Given the description of an element on the screen output the (x, y) to click on. 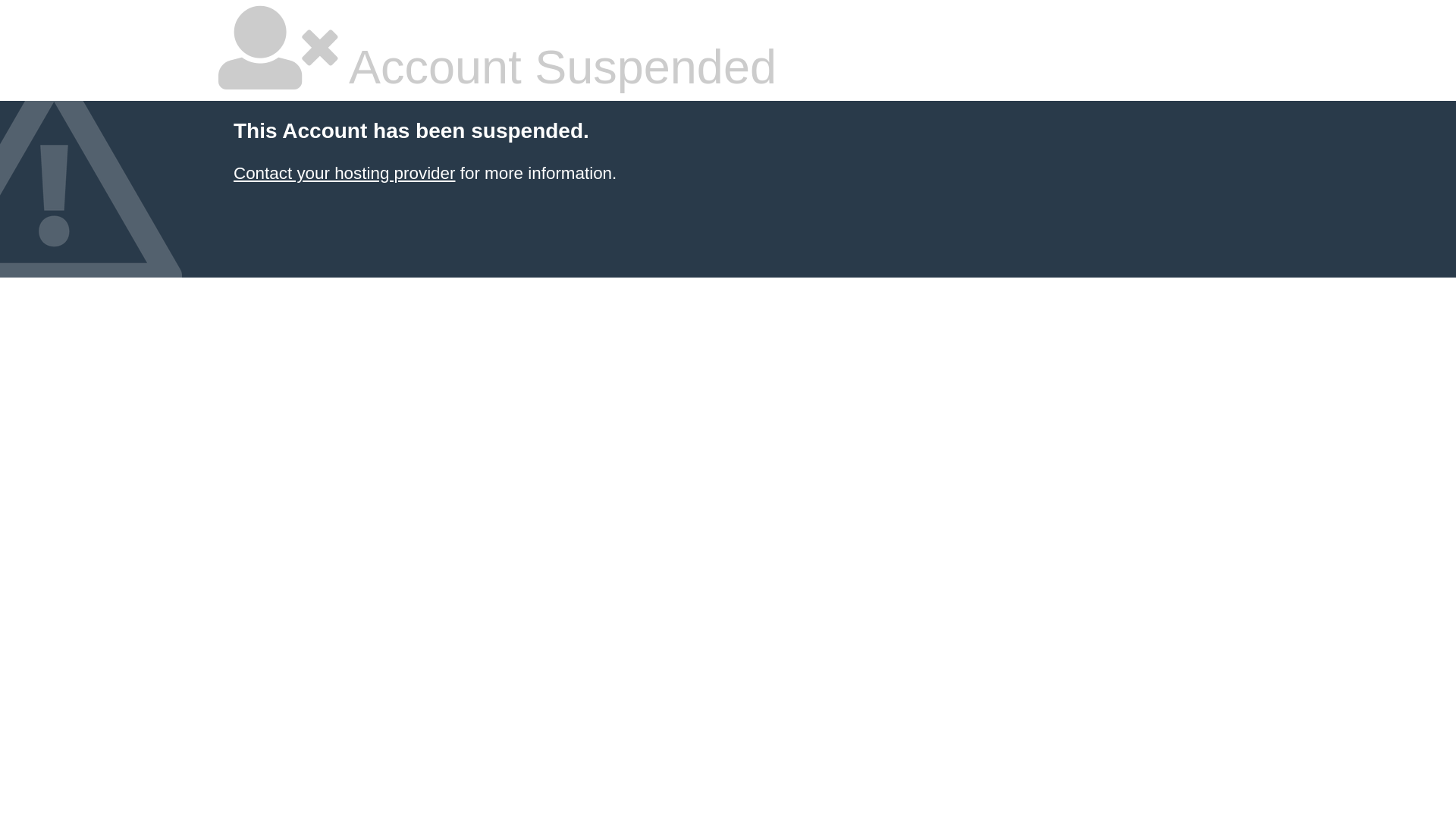
Contact your hosting provider Element type: text (344, 172)
